Given the description of an element on the screen output the (x, y) to click on. 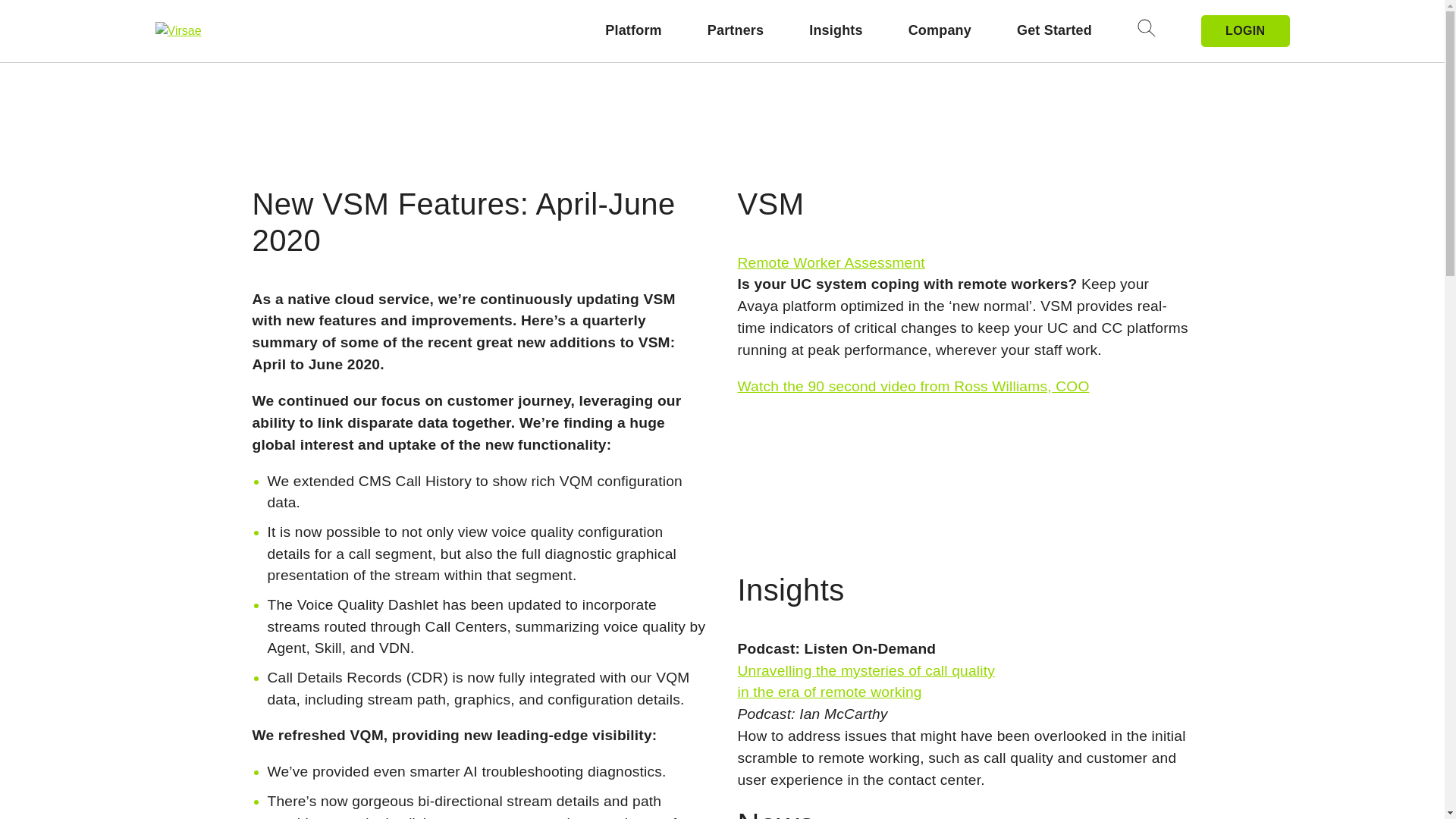
Remote Worker Assessment (830, 262)
Partners (734, 30)
Company (939, 30)
Watch the 90 second video from Ross Williams, COO (912, 385)
Platform (633, 30)
LOGIN (1245, 30)
Get Started (1054, 30)
Insights (835, 30)
